Given the description of an element on the screen output the (x, y) to click on. 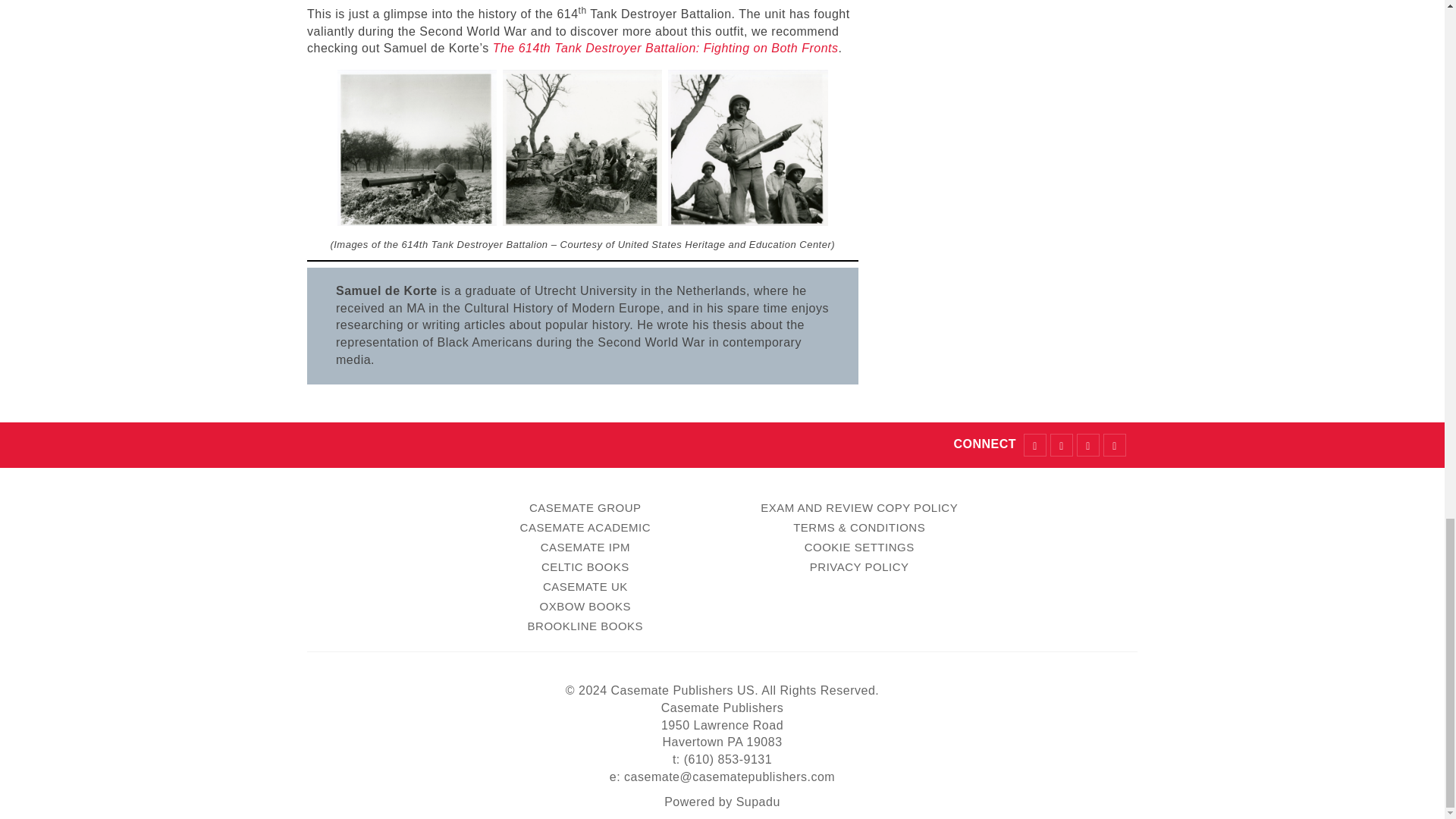
Follow us on Instagram (1088, 445)
Follow us on LinkedIn (1114, 445)
Follow us on Facebook (1034, 445)
